Given the description of an element on the screen output the (x, y) to click on. 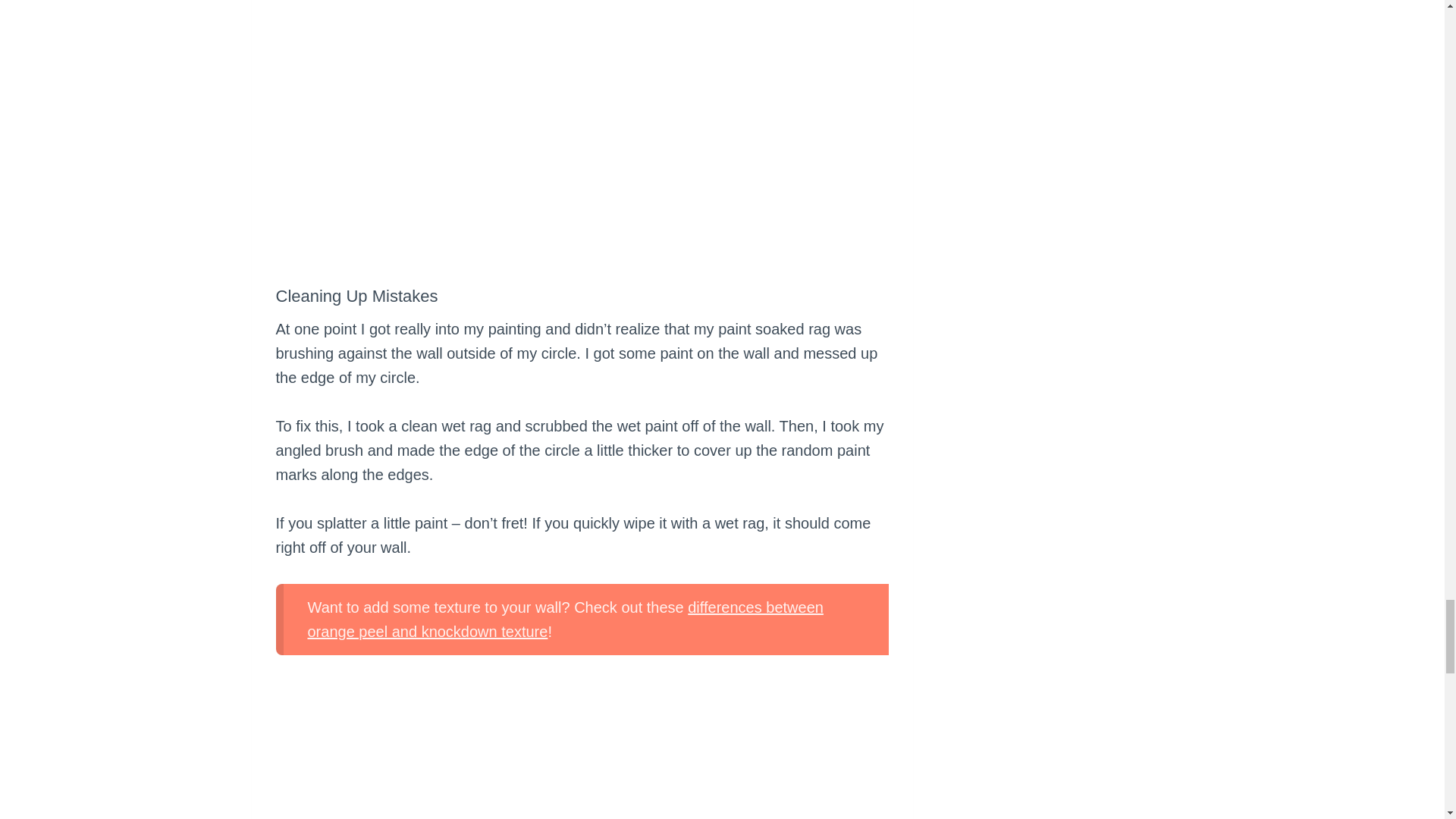
differences between orange peel and knockdown texture (565, 618)
